Given the description of an element on the screen output the (x, y) to click on. 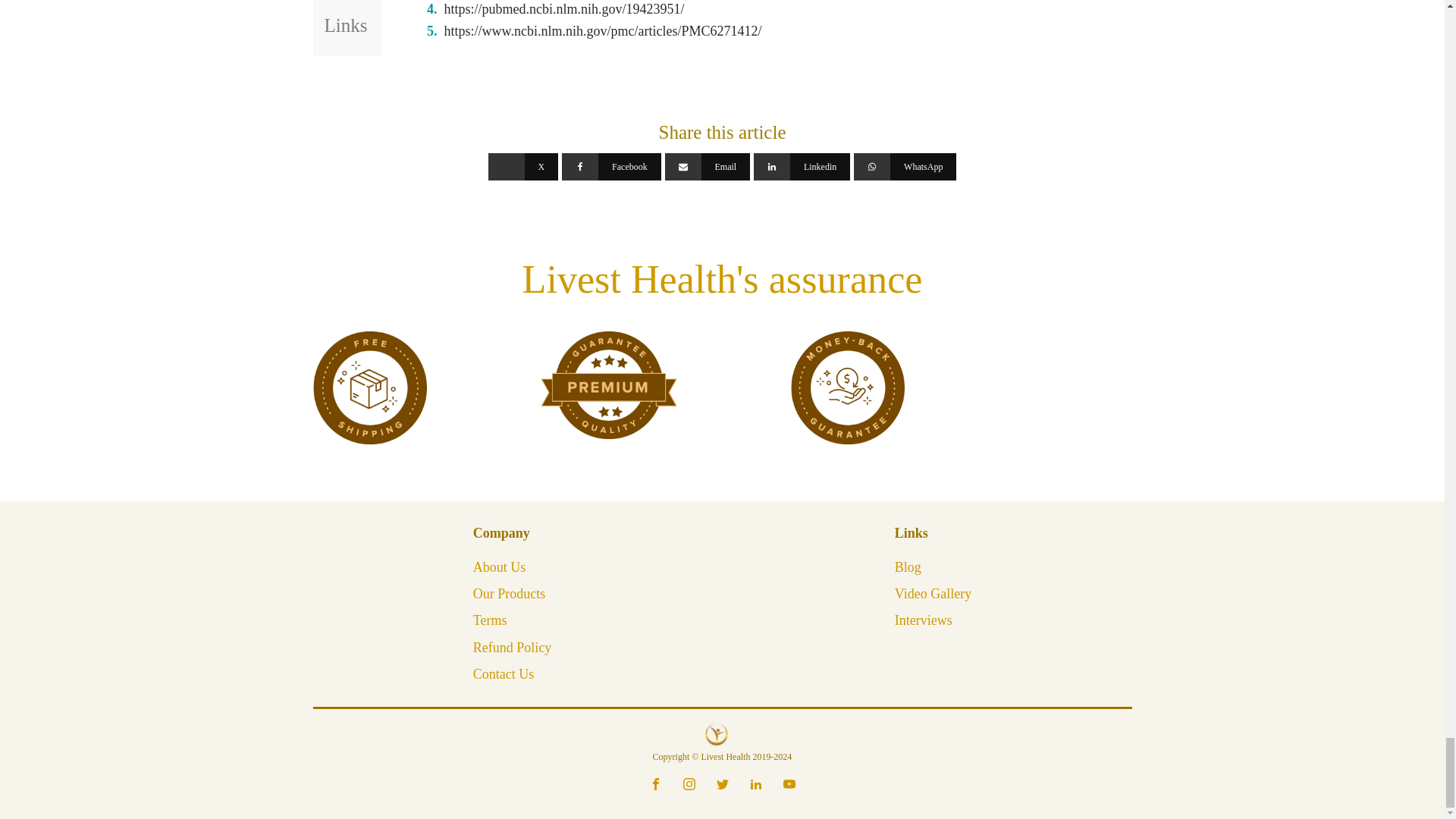
Email (706, 166)
About Us (499, 567)
Facebook (611, 166)
WhatsApp (904, 166)
Linkedin (802, 166)
X (523, 166)
